Given the description of an element on the screen output the (x, y) to click on. 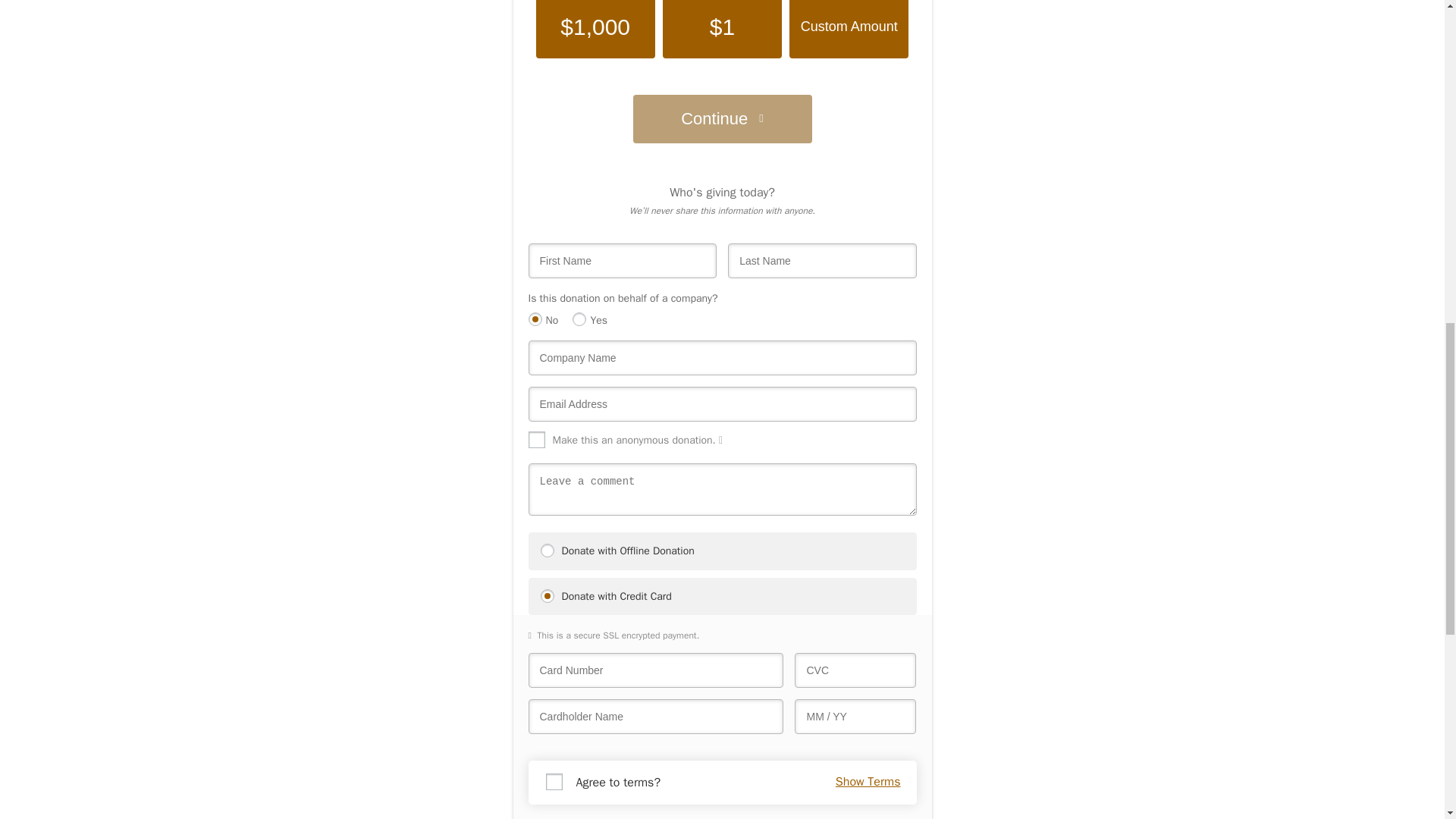
Show Terms (868, 781)
Continue (720, 119)
Custom Amount (848, 29)
